Given the description of an element on the screen output the (x, y) to click on. 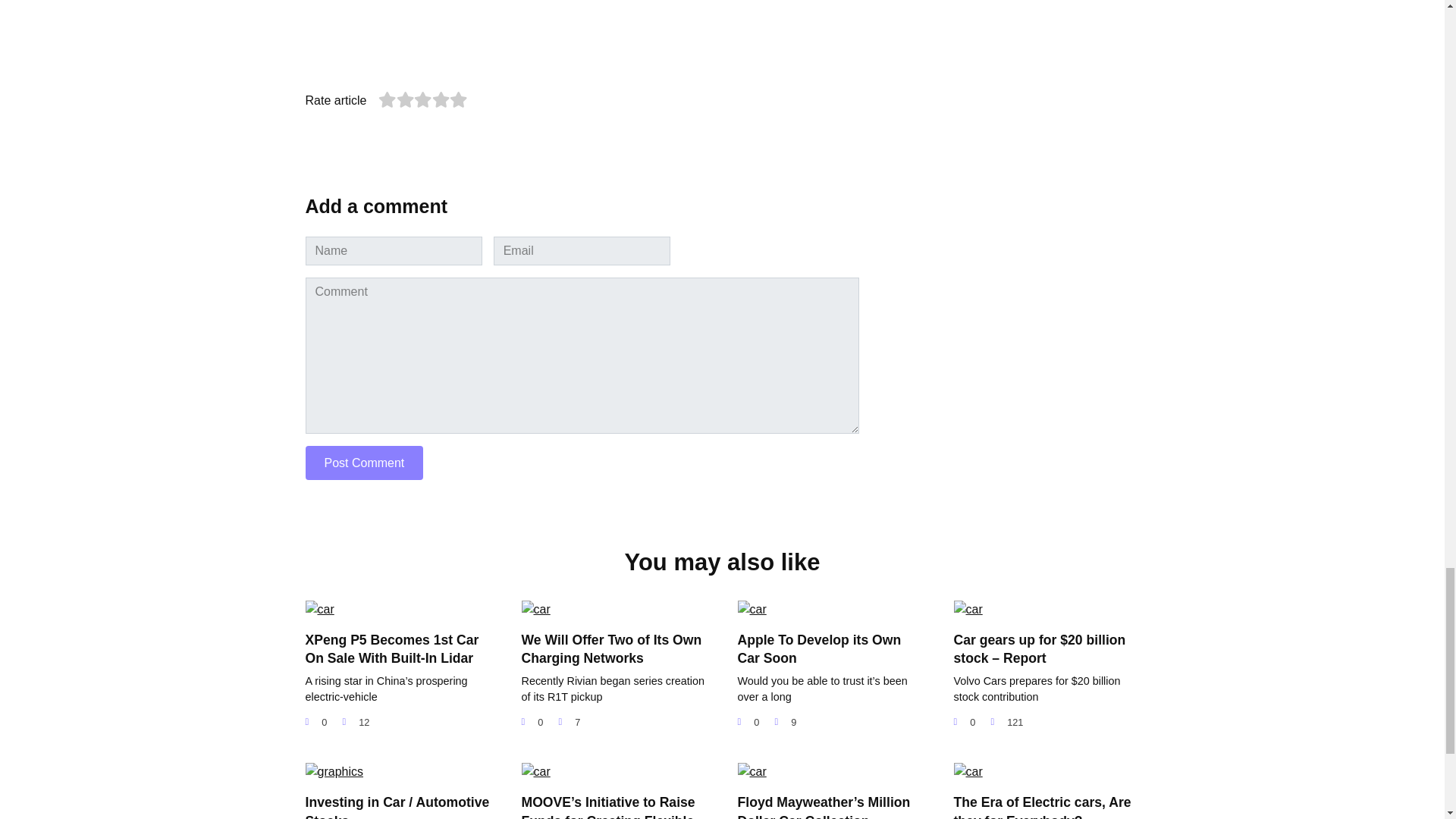
Apple To Develop its Own Car Soon (818, 648)
Post Comment (363, 462)
XPeng P5 Becomes 1st Car On Sale With Built-In Lidar (391, 648)
We Will Offer Two of Its Own Charging Networks (611, 648)
Post Comment (363, 462)
